Given the description of an element on the screen output the (x, y) to click on. 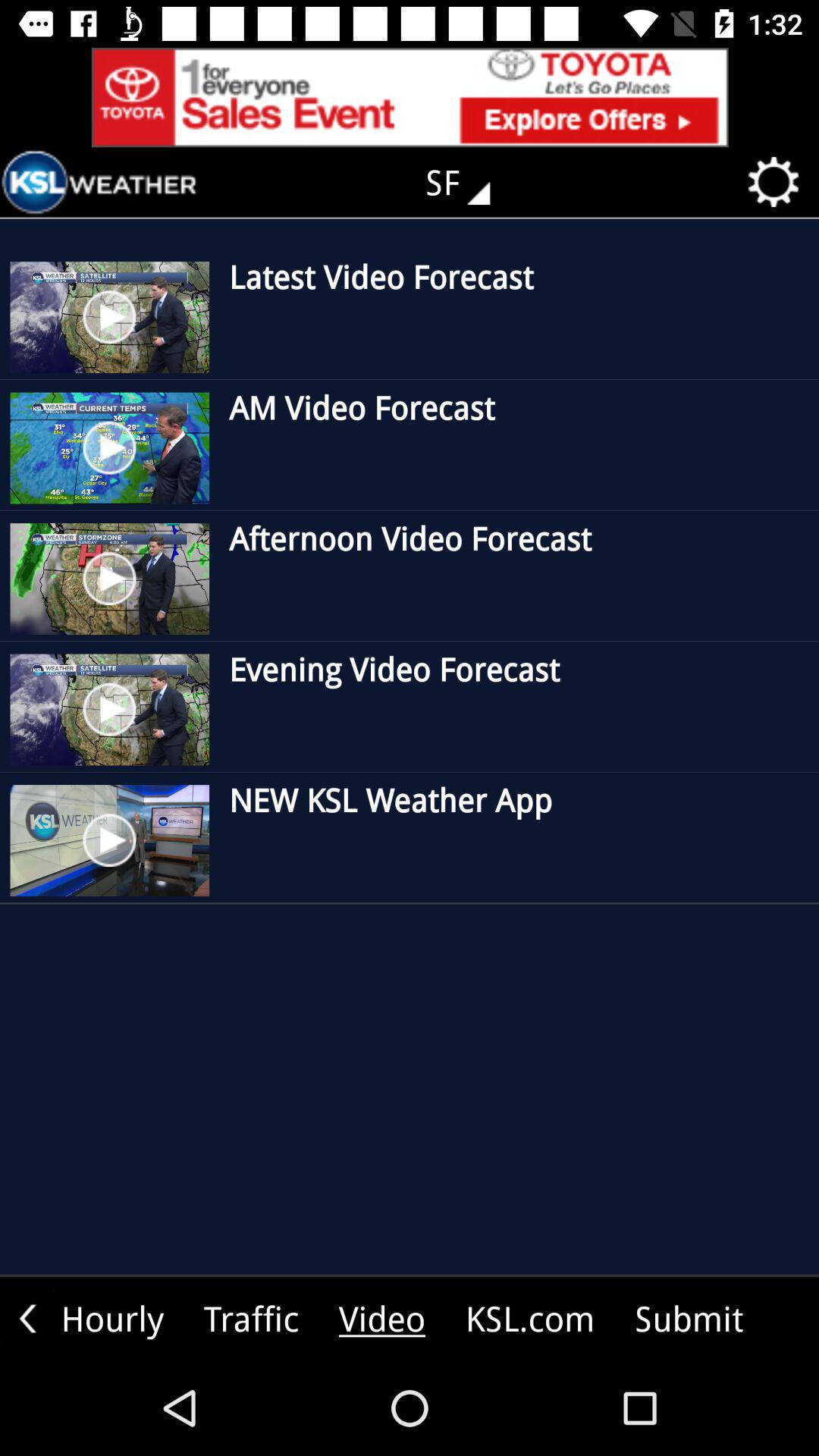
explore advertisement (409, 97)
